Given the description of an element on the screen output the (x, y) to click on. 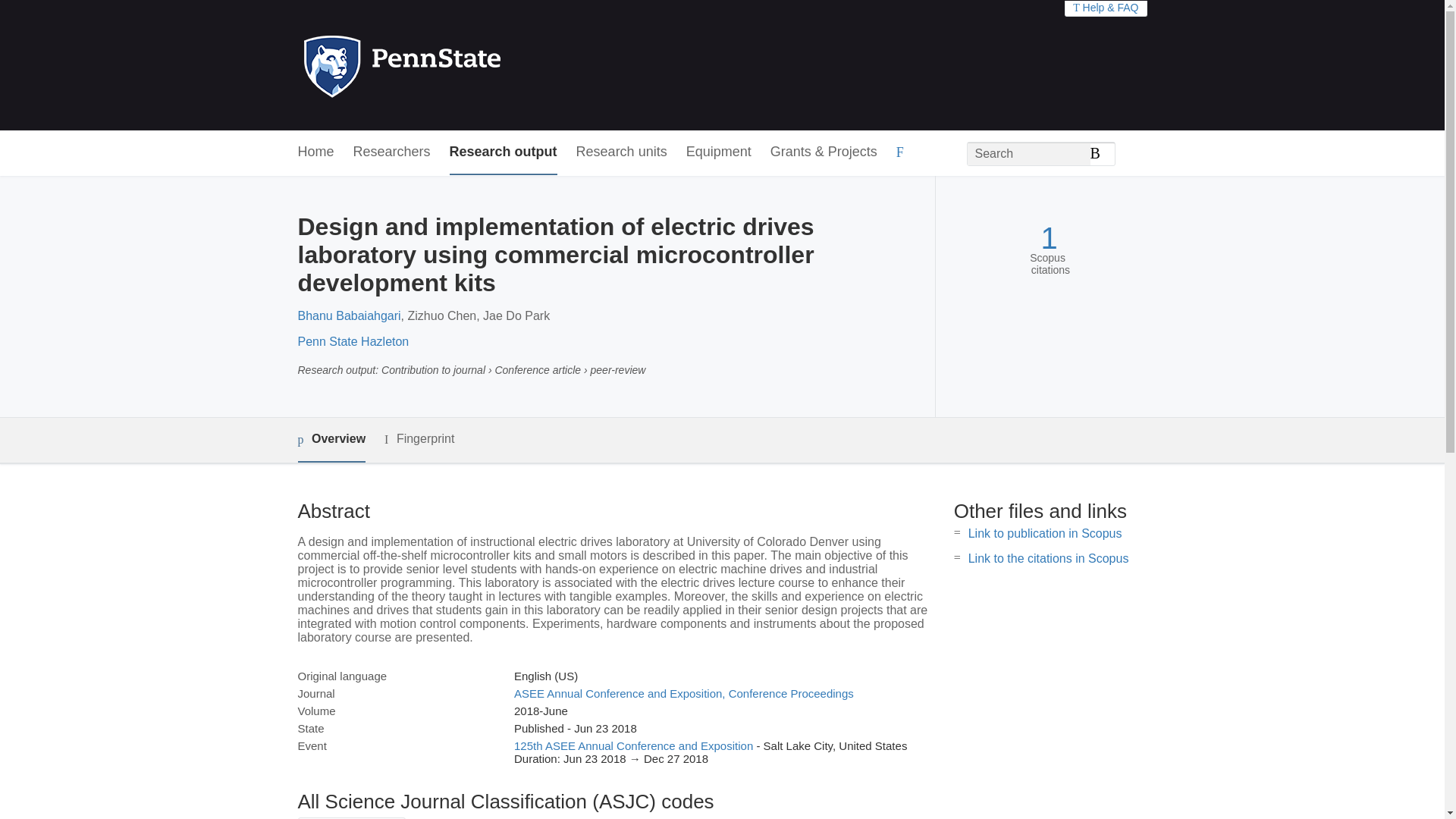
Research units (621, 152)
Link to publication in Scopus (1045, 533)
Bhanu Babaiahgari (348, 315)
125th ASEE Annual Conference and Exposition (632, 745)
Equipment (718, 152)
Fingerprint (419, 439)
Overview (331, 439)
Penn State Home (467, 65)
Researchers (391, 152)
Penn State Hazleton (353, 341)
